Given the description of an element on the screen output the (x, y) to click on. 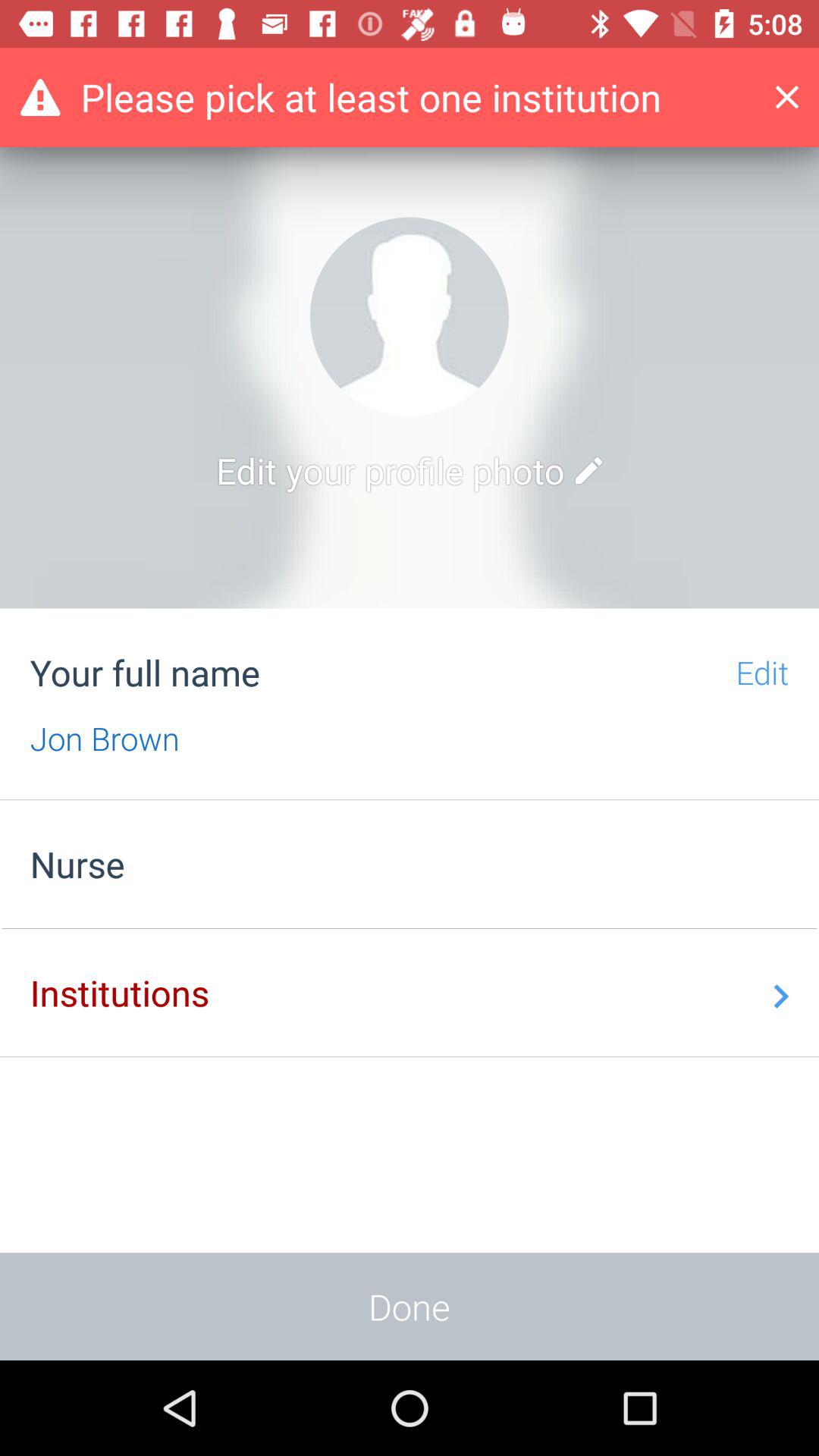
closs button (798, 97)
